Given the description of an element on the screen output the (x, y) to click on. 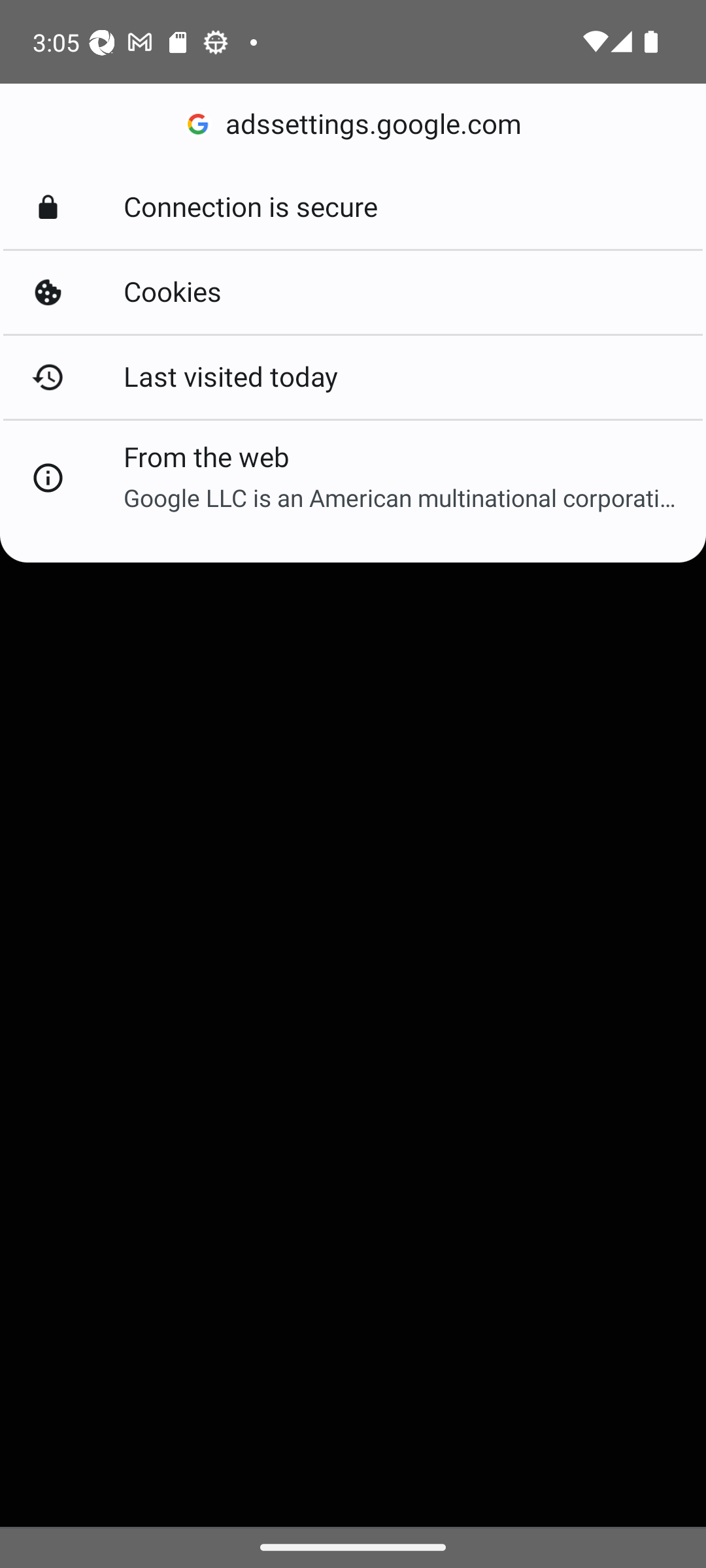
adssettings.google.com (353, 124)
Connection is secure (353, 207)
Cookies (353, 291)
Last visited today (353, 376)
